Given the description of an element on the screen output the (x, y) to click on. 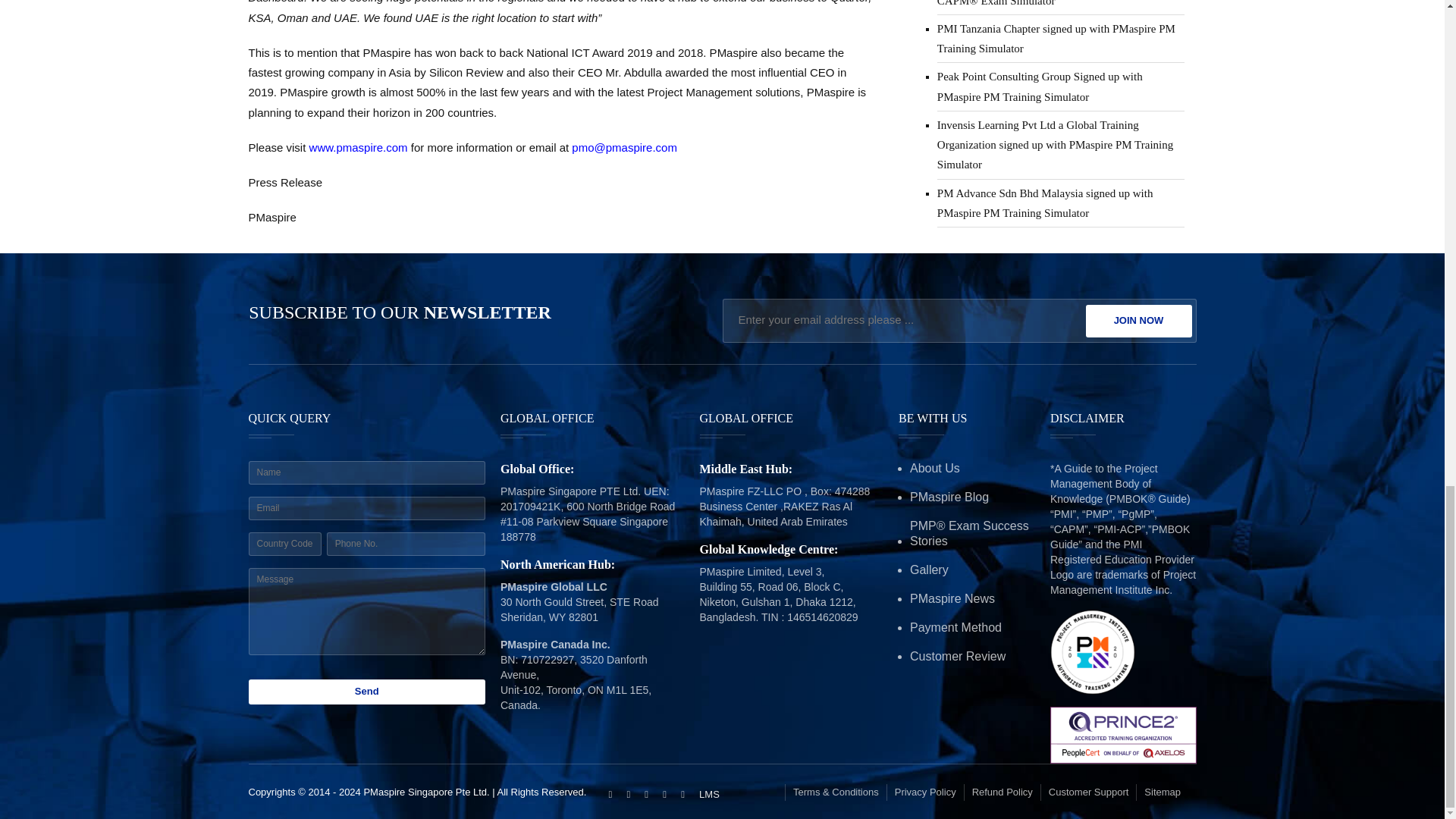
JOIN NOW (1139, 320)
Send (367, 691)
